Given the description of an element on the screen output the (x, y) to click on. 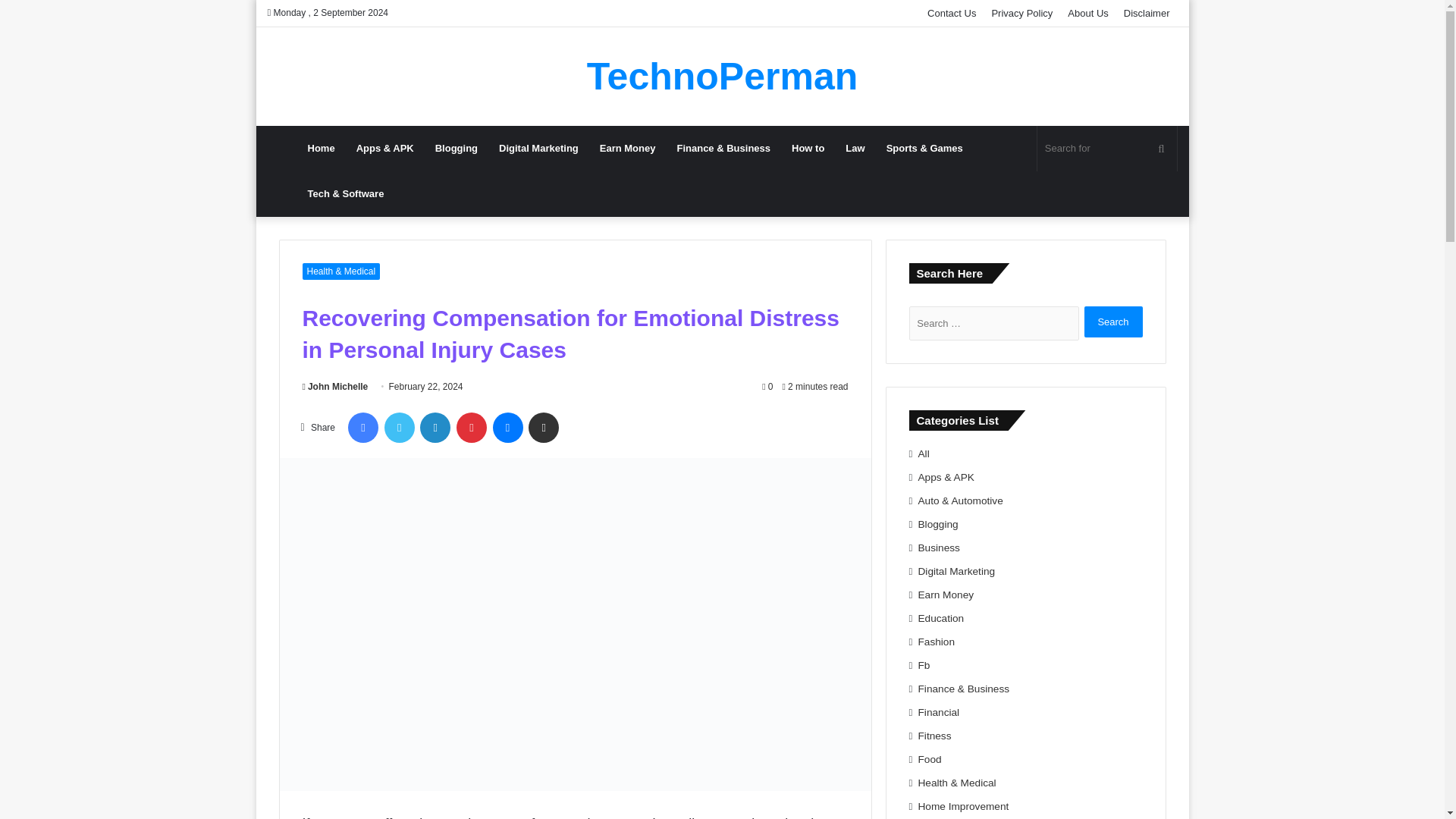
John Michelle (334, 386)
Privacy Policy (1021, 13)
Facebook (362, 427)
Earn Money (627, 148)
TechnoPerman (722, 76)
TechnoPerman (722, 76)
Digital Marketing (538, 148)
Home (321, 148)
Messenger (507, 427)
Share via Email (543, 427)
